Given the description of an element on the screen output the (x, y) to click on. 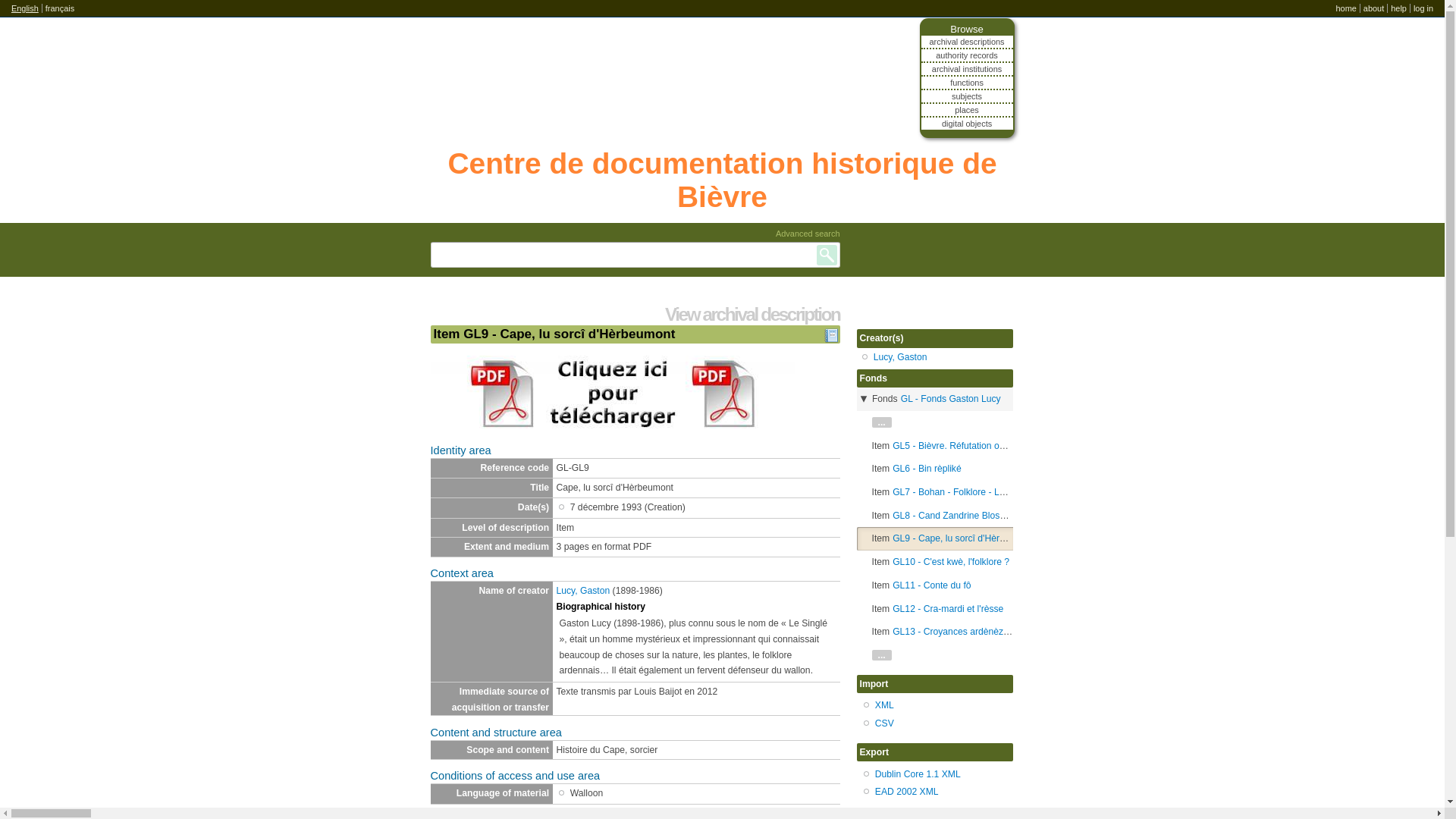
home Element type: text (1345, 7)
Search Element type: text (825, 254)
GL - Fonds Gaston Lucy Element type: text (950, 398)
XML Element type: text (884, 704)
places Element type: text (967, 109)
... Element type: text (881, 654)
Lucy, Gaston Element type: text (900, 356)
EAD 2002 XML Element type: text (906, 791)
English Element type: text (24, 7)
... Element type: text (881, 422)
authority records Element type: text (967, 55)
archival descriptions Element type: text (967, 41)
Dublin Core 1.1 XML Element type: text (917, 773)
subjects Element type: text (967, 96)
functions Element type: text (967, 82)
archival institutions Element type: text (967, 68)
Reports Element type: hover (830, 339)
about Element type: text (1373, 7)
log in Element type: text (1423, 7)
help Element type: text (1398, 7)
CSV Element type: text (884, 723)
Advanced search Element type: text (807, 233)
digital objects Element type: text (967, 123)
Lucy, Gaston Element type: text (583, 590)
